Given the description of an element on the screen output the (x, y) to click on. 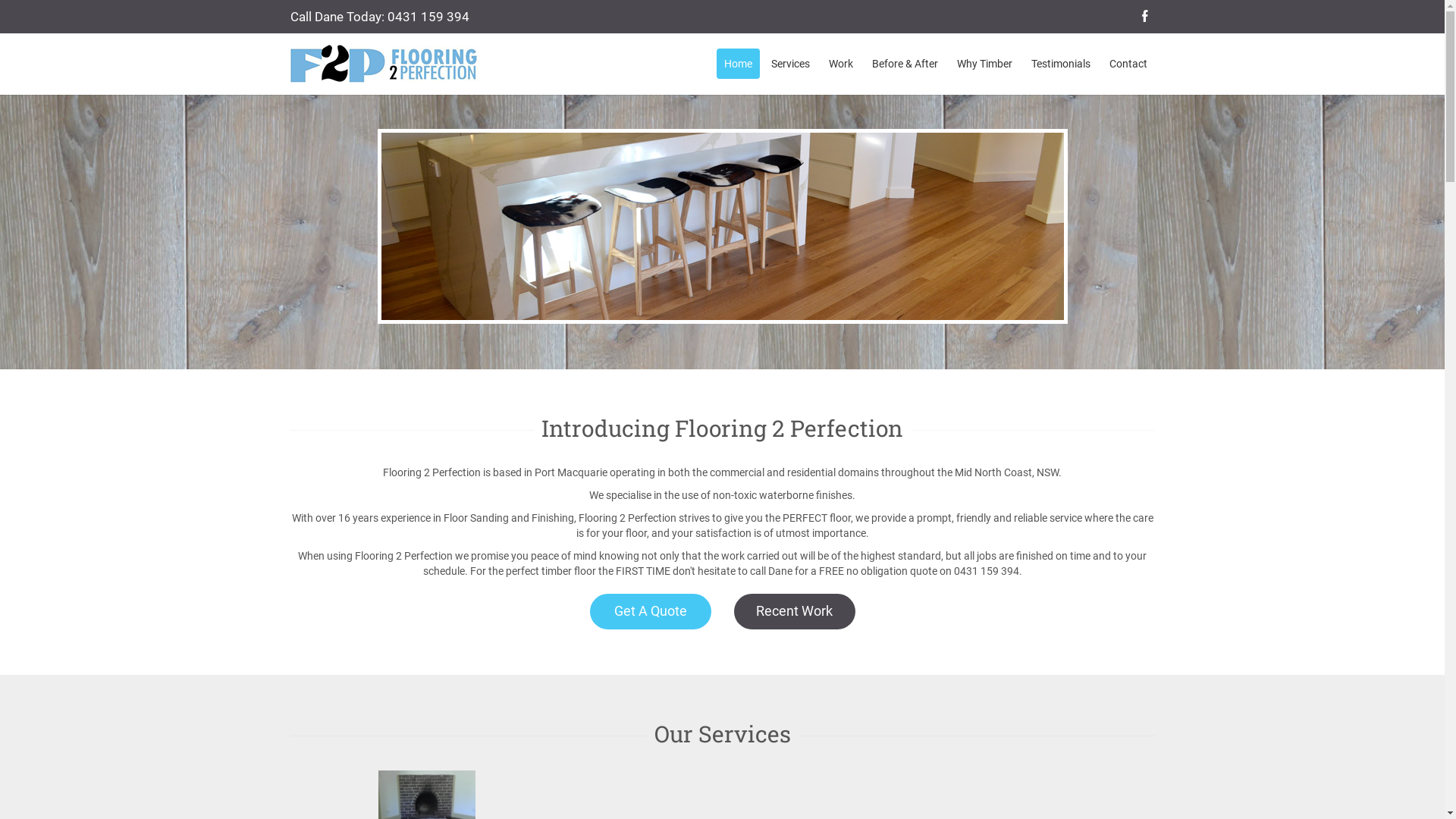
Why Timber Element type: text (984, 63)
Recent Work Element type: text (794, 611)
Contact Element type: text (1127, 63)
Before & After Element type: text (904, 63)
Work Element type: text (839, 63)
Services Element type: text (789, 63)
Home Element type: text (737, 63)
Get A Quote Element type: text (650, 611)
Testimonials Element type: text (1060, 63)
